Given the description of an element on the screen output the (x, y) to click on. 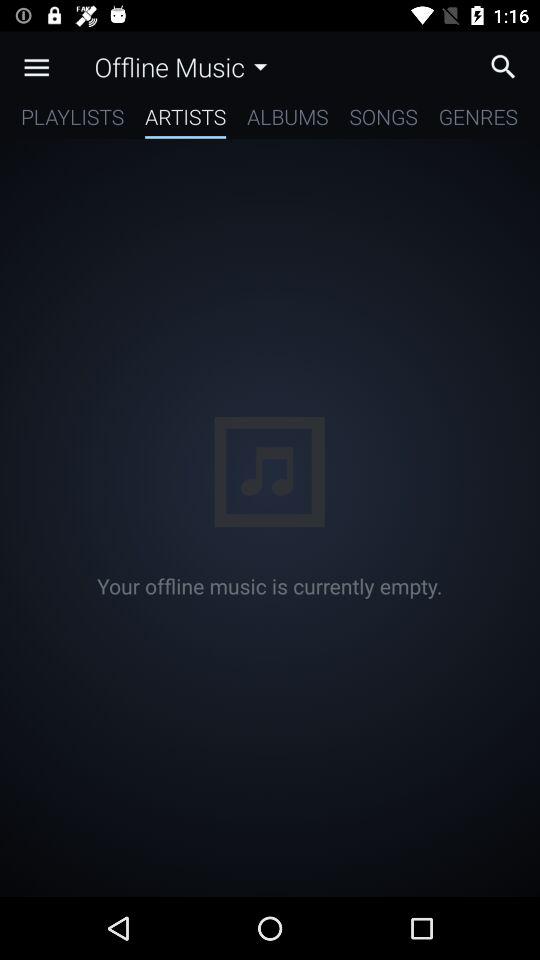
jump until the artists app (185, 120)
